Given the description of an element on the screen output the (x, y) to click on. 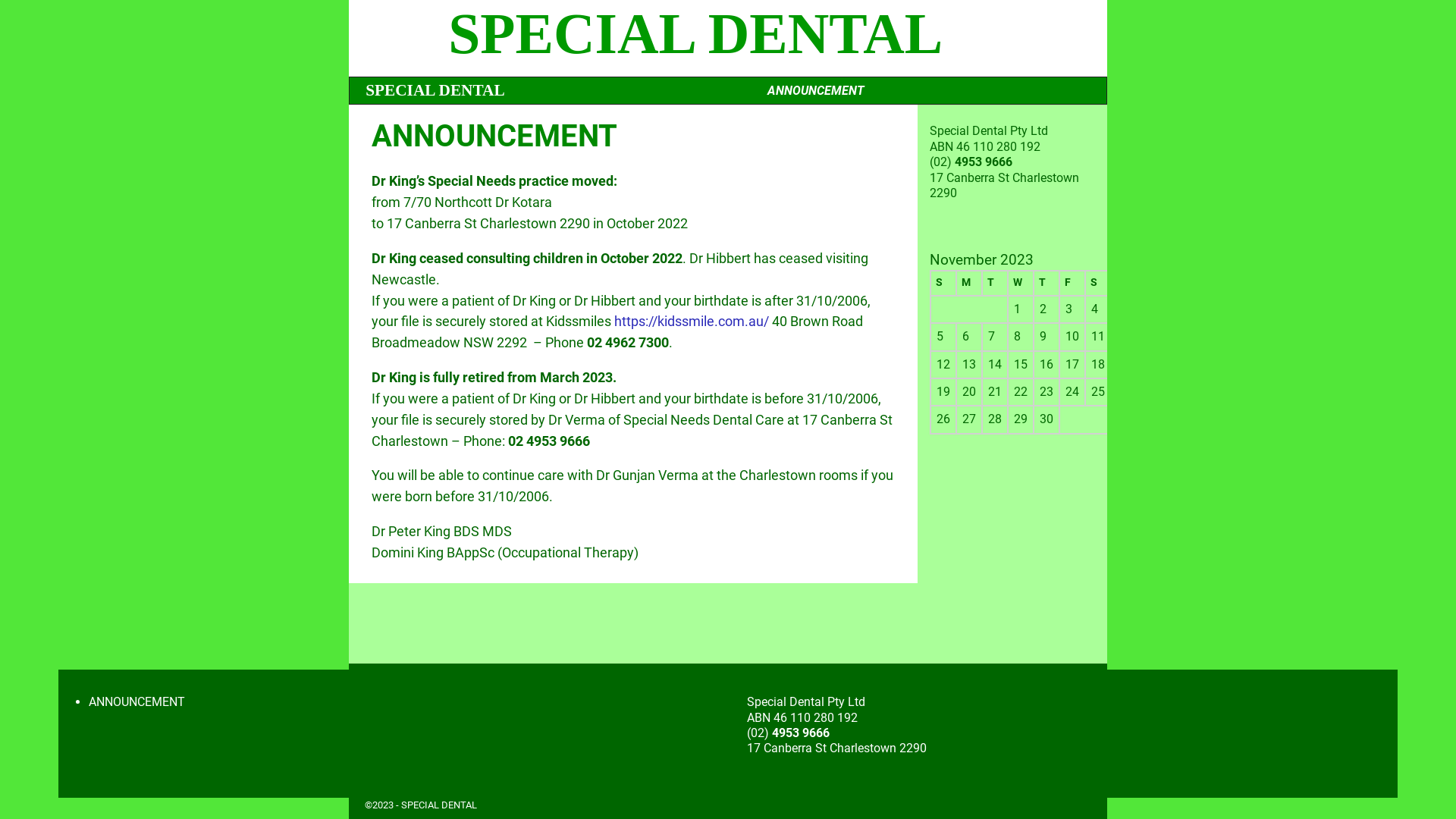
ANNOUNCEMENT Element type: text (815, 90)
SPECIAL DENTAL Element type: text (438, 804)
https://kidssmile.com.au/ Element type: text (692, 321)
ANNOUNCEMENT Element type: text (136, 701)
SPECIAL DENTAL Element type: text (434, 90)
SPECIAL DENTAL Element type: text (694, 33)
